Given the description of an element on the screen output the (x, y) to click on. 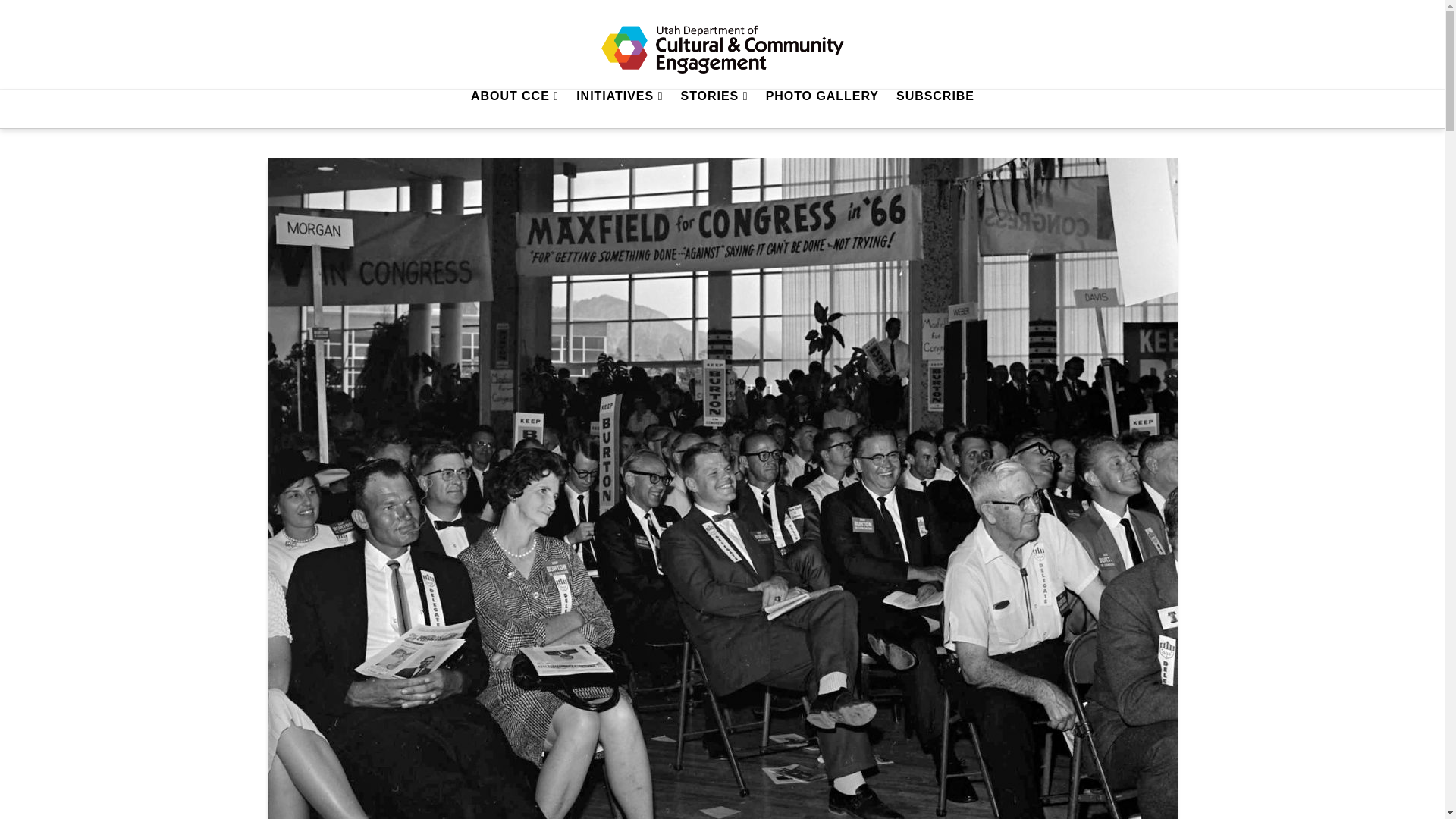
INITIATIVES (619, 108)
SUBSCRIBE (934, 108)
ABOUT CCE (514, 108)
STORIES (714, 108)
PHOTO GALLERY (821, 108)
